Given the description of an element on the screen output the (x, y) to click on. 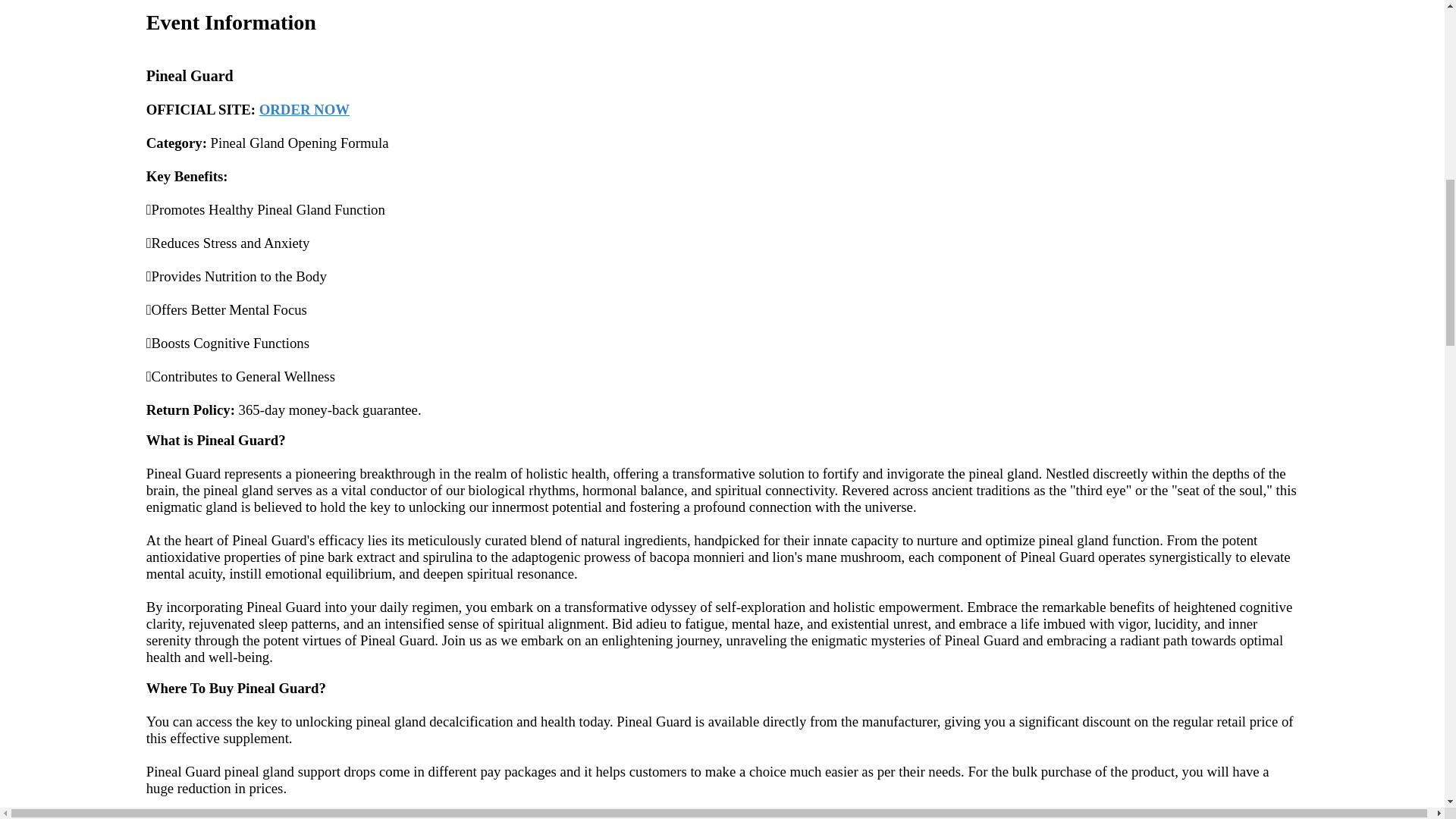
ORDER NOW (304, 109)
